Given the description of an element on the screen output the (x, y) to click on. 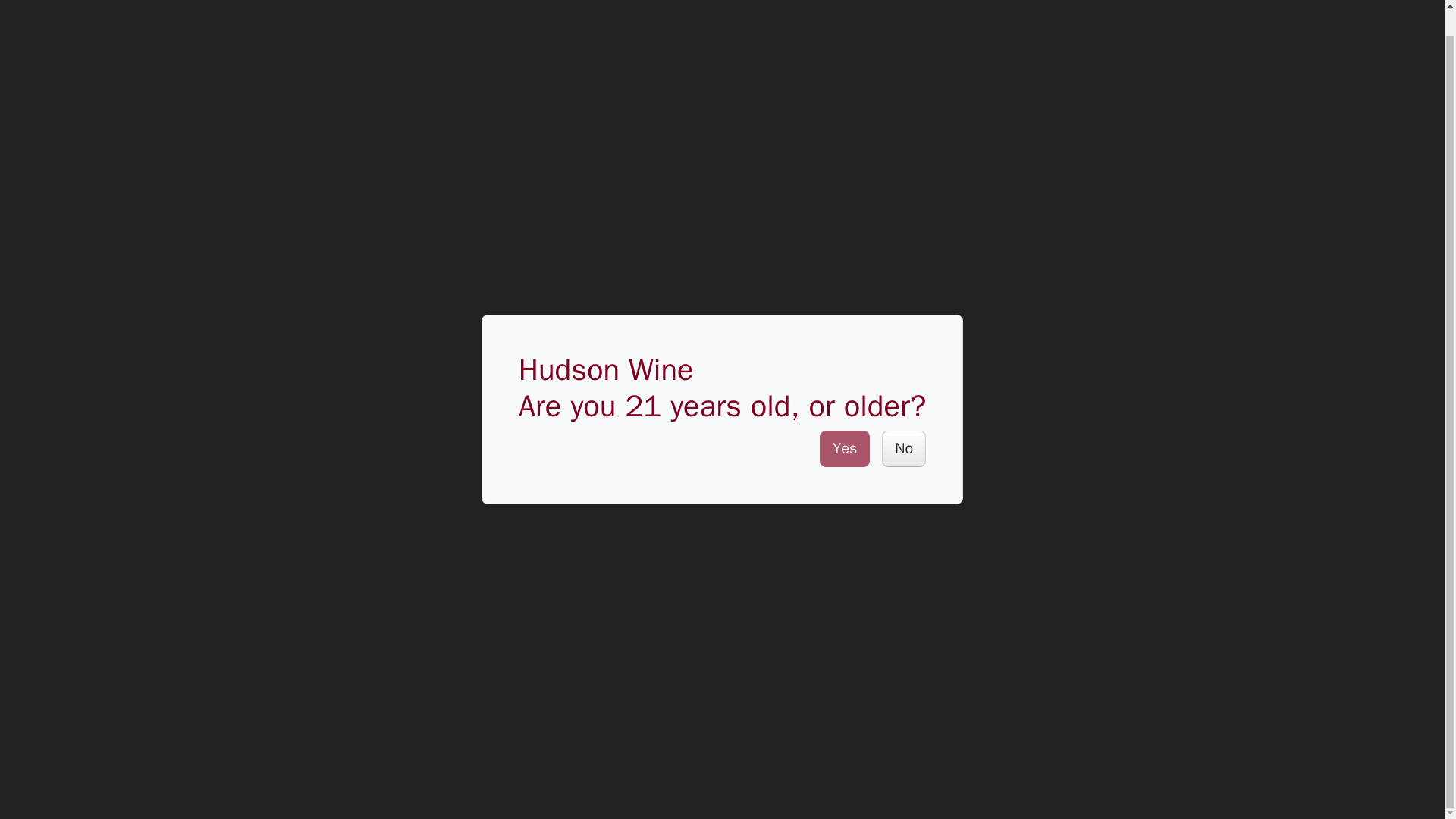
Wine (140, 7)
Hudson Wine (49, 6)
